Given the description of an element on the screen output the (x, y) to click on. 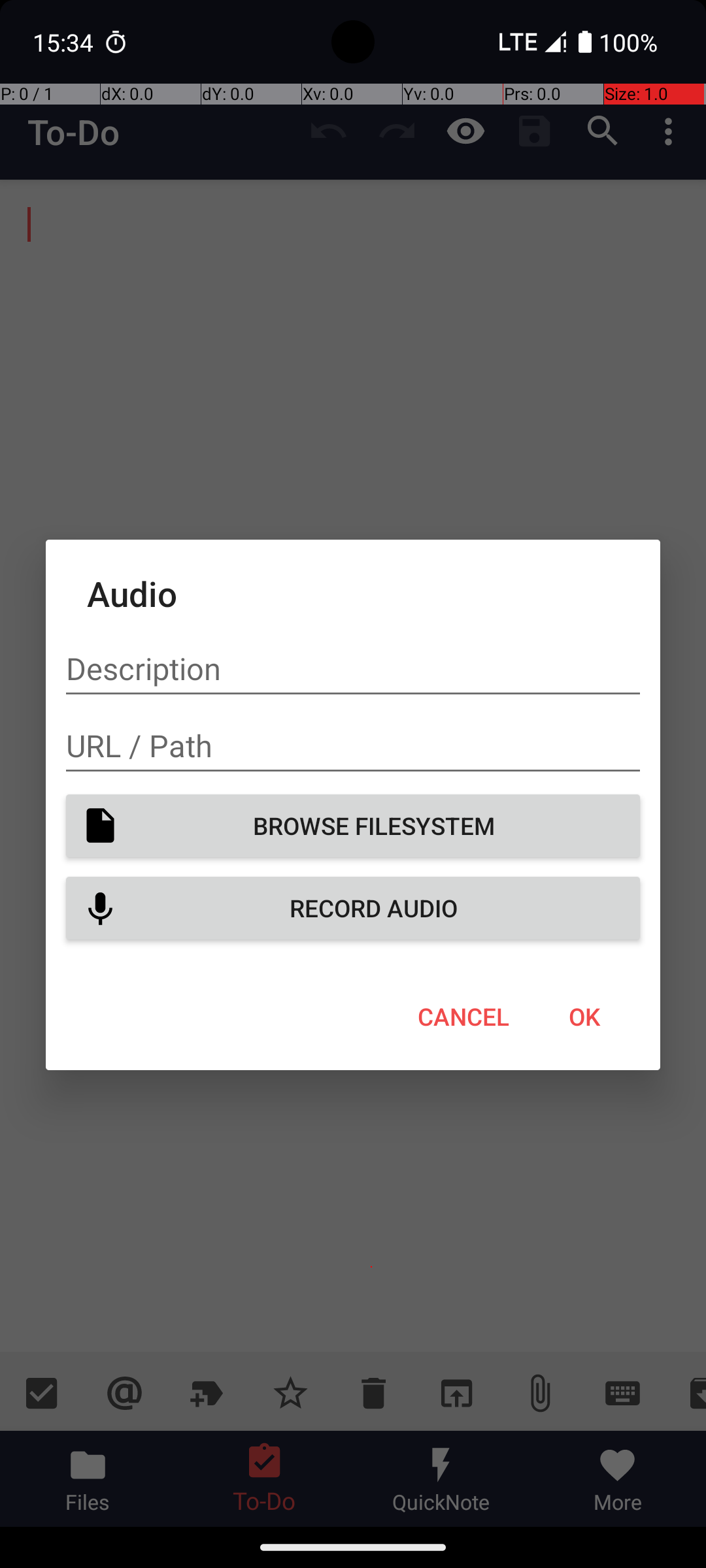
URL / Path Element type: android.widget.EditText (352, 745)
BROWSE FILESYSTEM Element type: android.widget.Button (352, 825)
RECORD AUDIO Element type: android.widget.Button (352, 907)
